Given the description of an element on the screen output the (x, y) to click on. 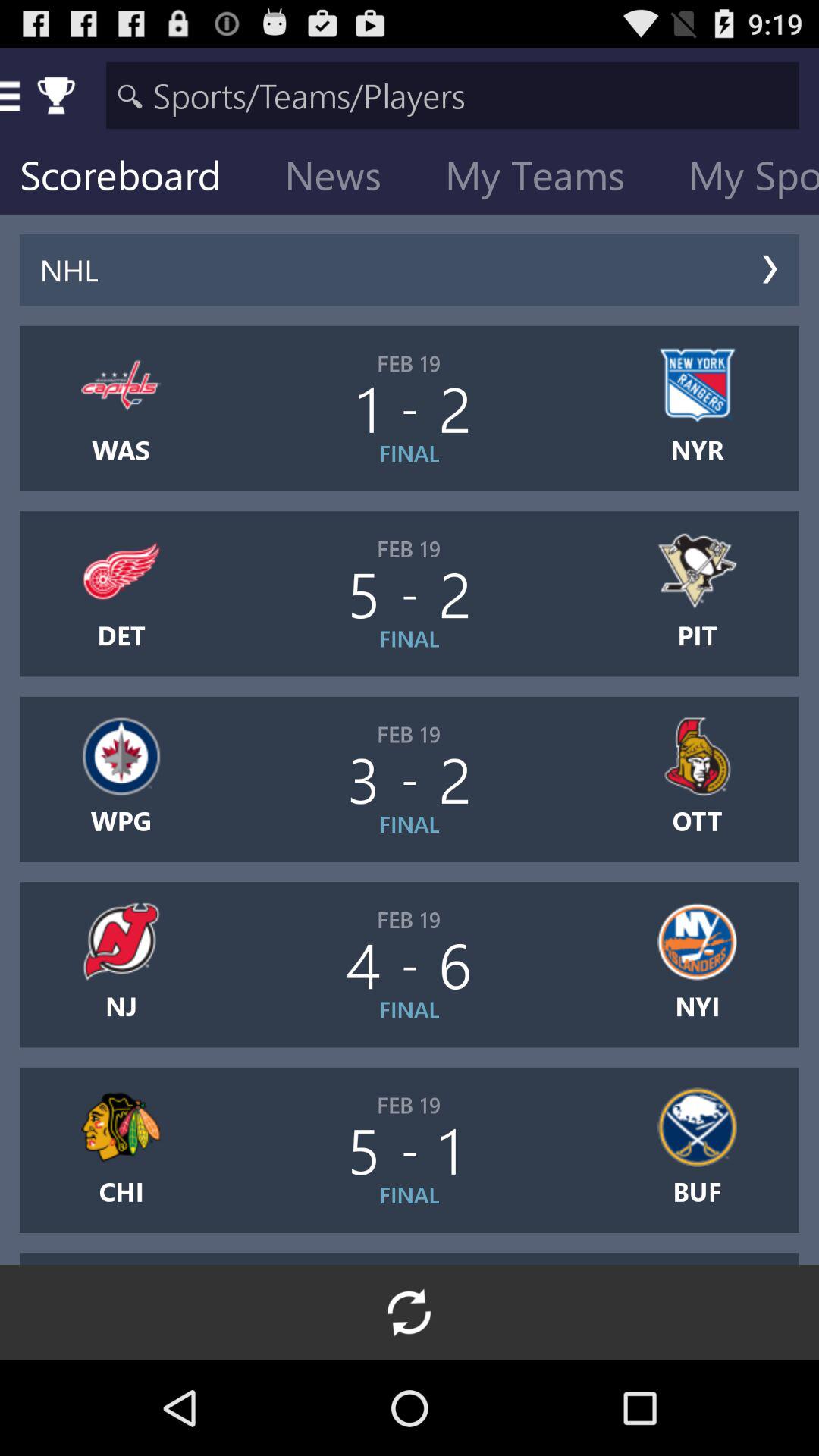
enter to search bar (452, 95)
